Given the description of an element on the screen output the (x, y) to click on. 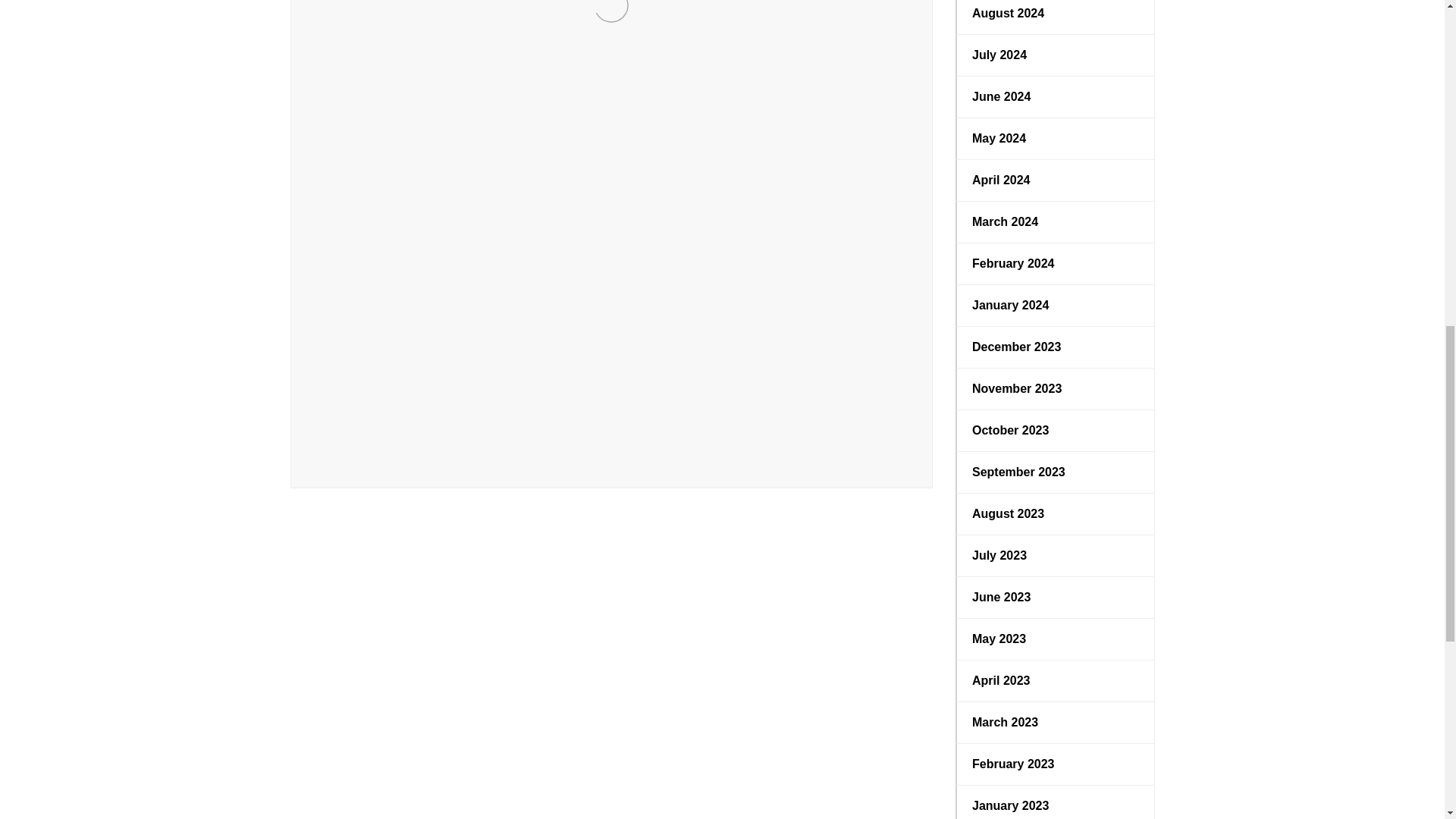
August 2023 (1055, 514)
lori-singer (380, 447)
September 2023 (1055, 472)
February 2024 (1055, 263)
July 2024 (1055, 54)
June 2024 (1055, 96)
March 2024 (1055, 221)
November 2023 (1055, 389)
March 2023 (1055, 722)
October 2023 (1055, 430)
